Given the description of an element on the screen output the (x, y) to click on. 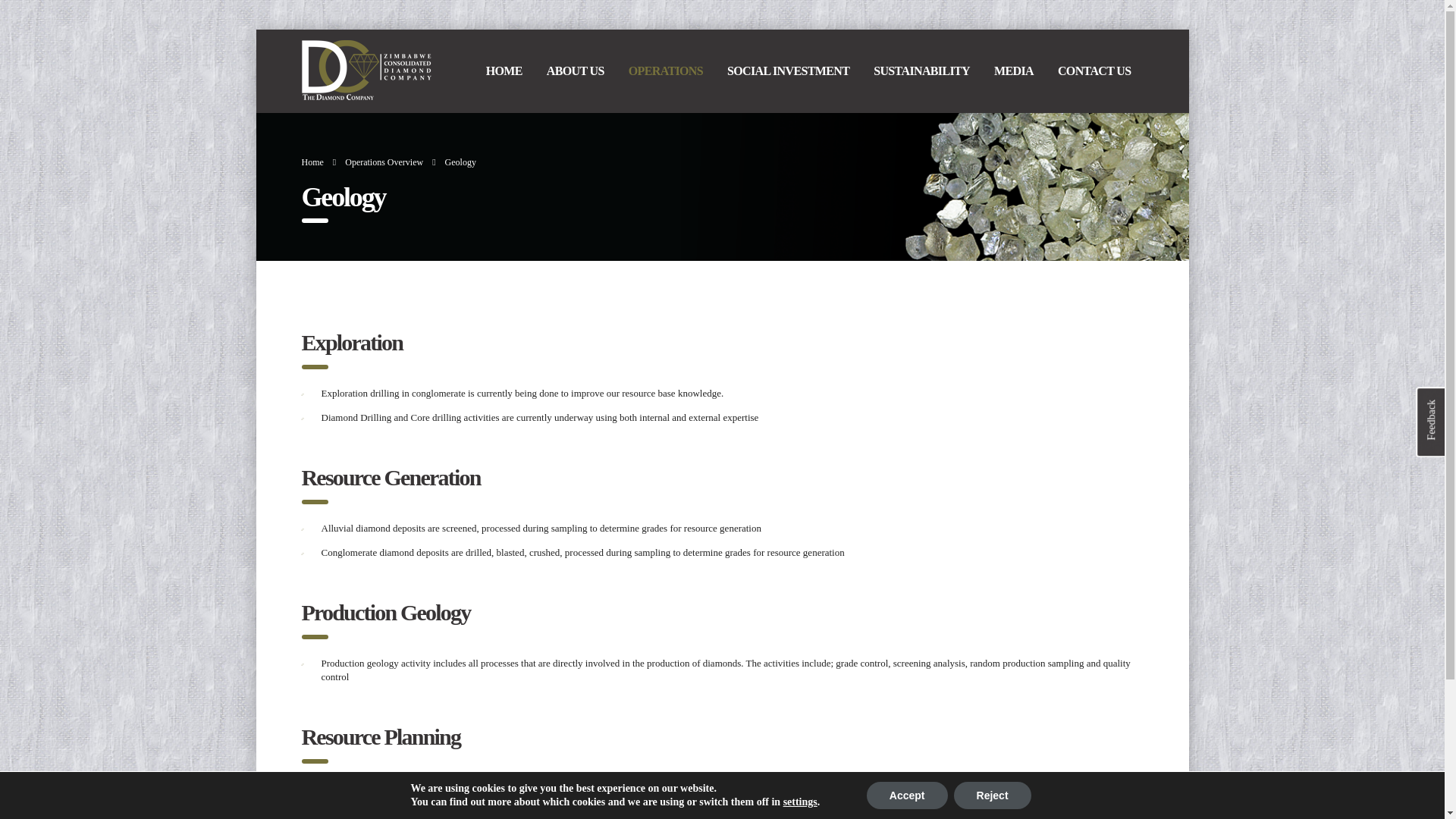
ABOUT US (574, 70)
SOCIAL INVESTMENT (787, 70)
CONTACT US (1093, 70)
HOME (504, 70)
Go to Zimbabwe Consolidated Diamond Company. (312, 162)
SUSTAINABILITY (921, 70)
OPERATIONS (664, 70)
Go to Operations Overview. (384, 162)
MEDIA (1013, 70)
